Given the description of an element on the screen output the (x, y) to click on. 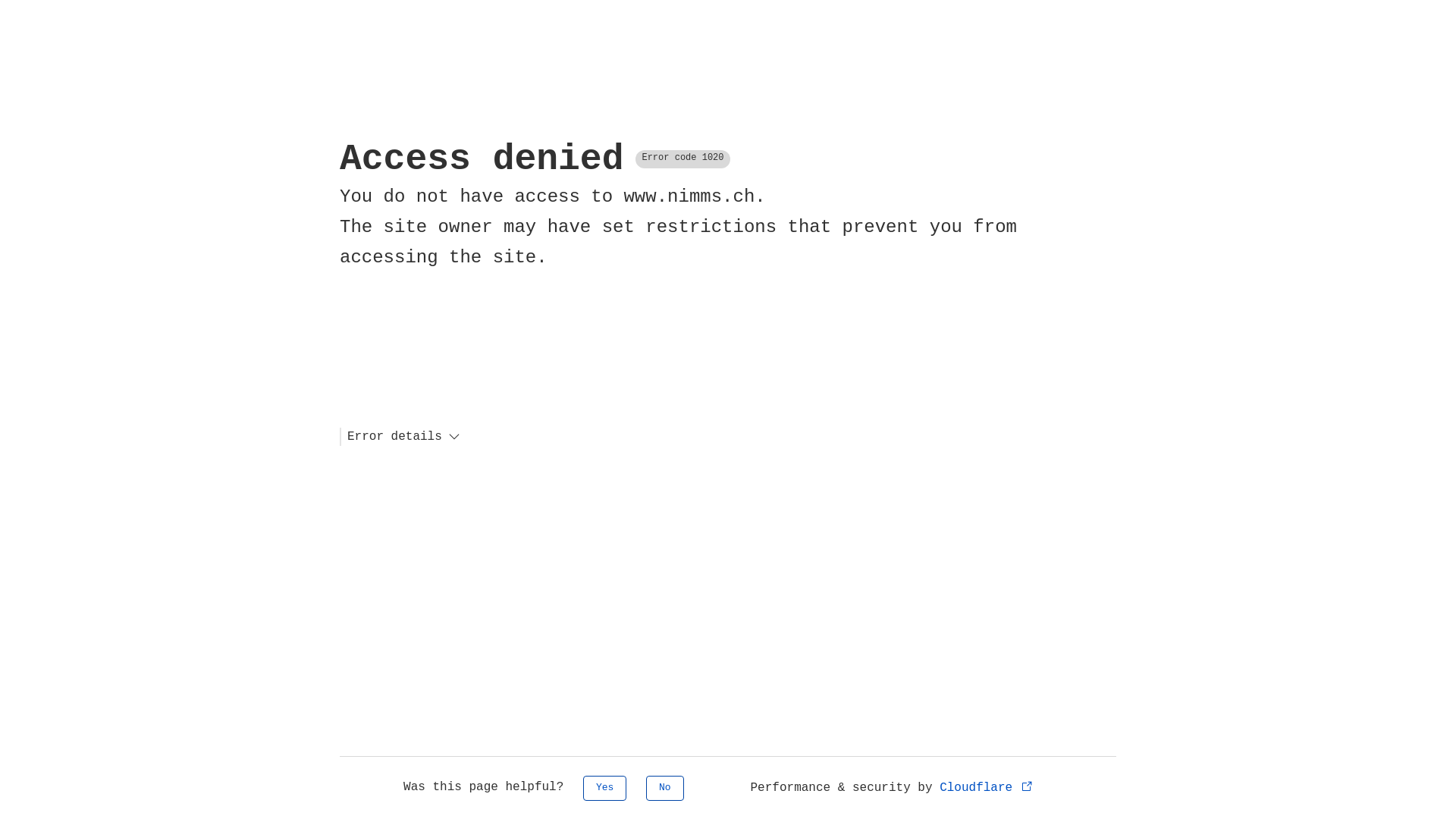
Cloudflare Element type: text (986, 787)
Opens in new tab Element type: hover (1027, 785)
No Element type: text (665, 787)
Yes Element type: text (604, 787)
